Given the description of an element on the screen output the (x, y) to click on. 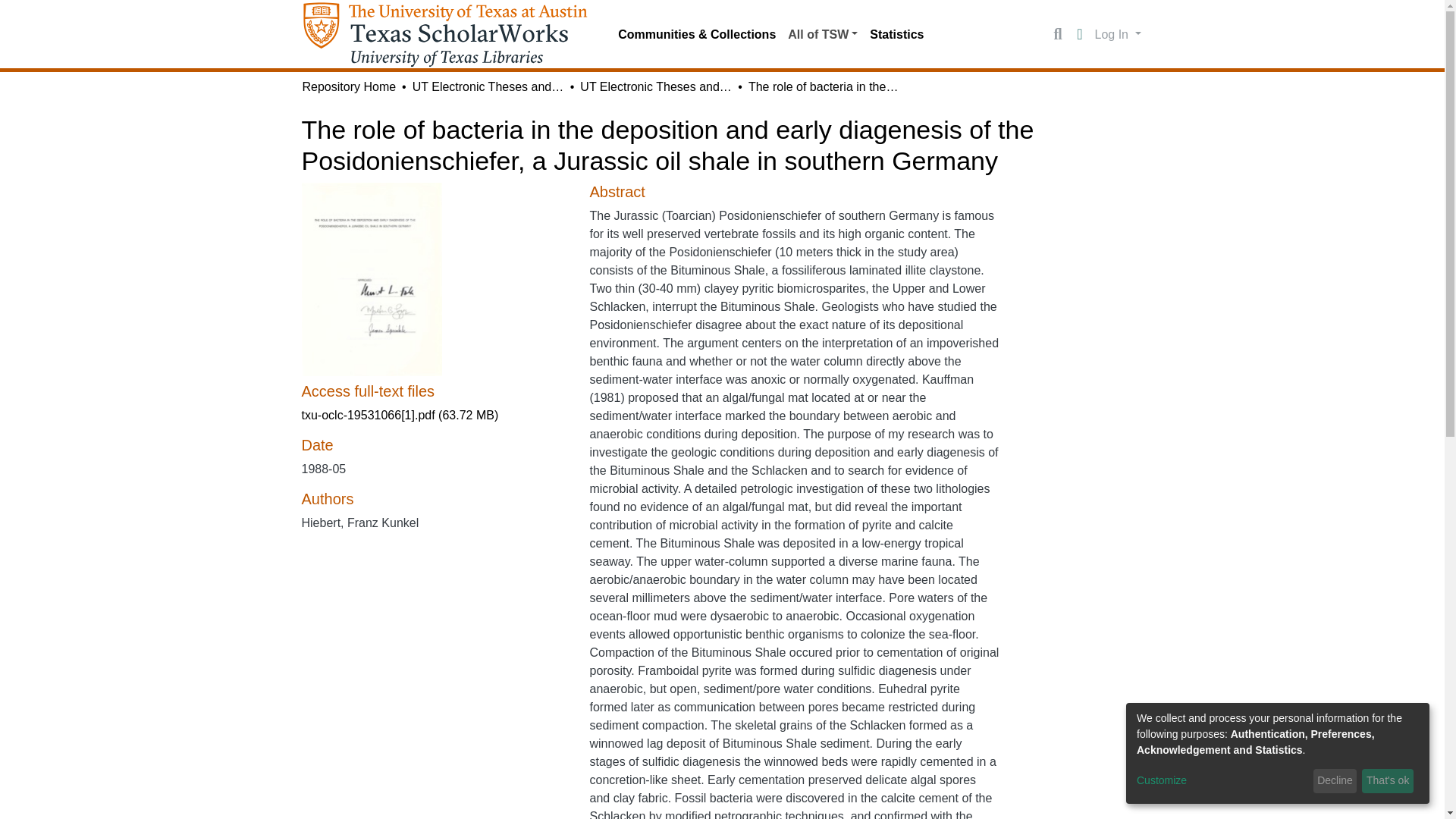
UT Electronic Theses and Dissertations (655, 86)
Search (1057, 34)
Statistics (896, 34)
Language switch (1079, 34)
All of TSW (822, 34)
Statistics (896, 34)
Log In (1117, 33)
UT Electronic Theses and Dissertations (488, 86)
Repository Home (348, 86)
